Given the description of an element on the screen output the (x, y) to click on. 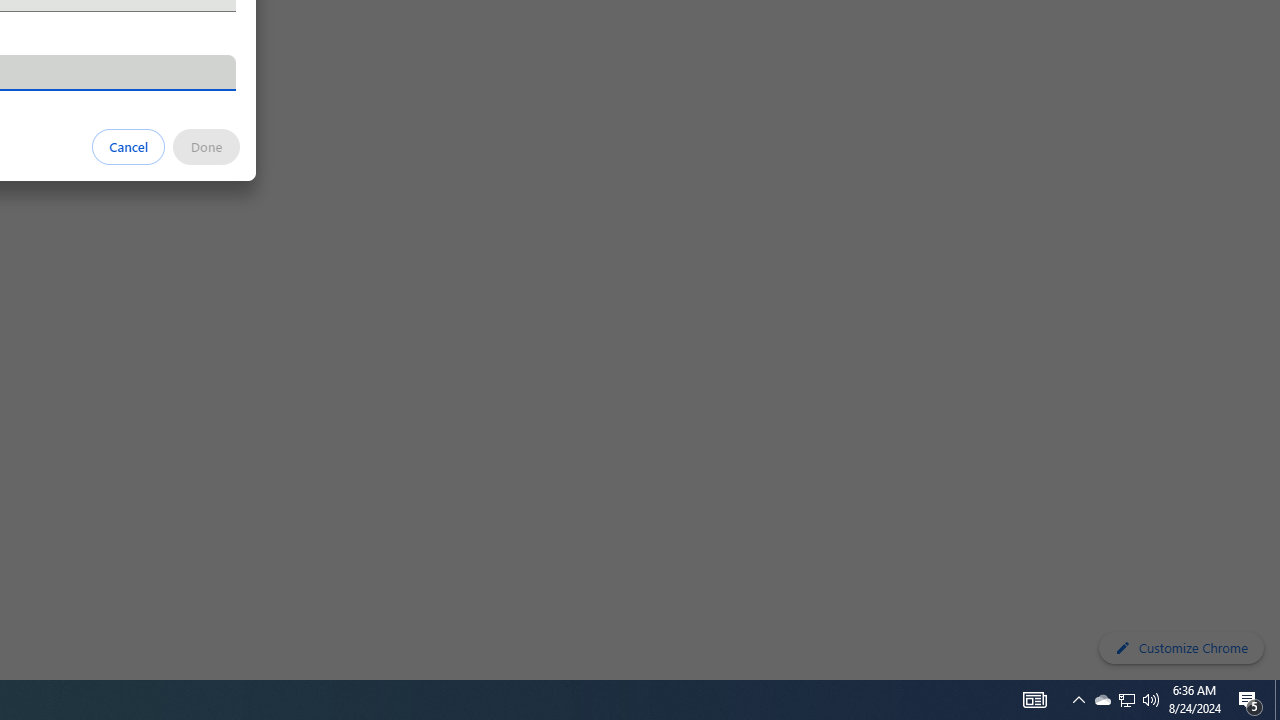
Done (206, 146)
Cancel (129, 146)
